Given the description of an element on the screen output the (x, y) to click on. 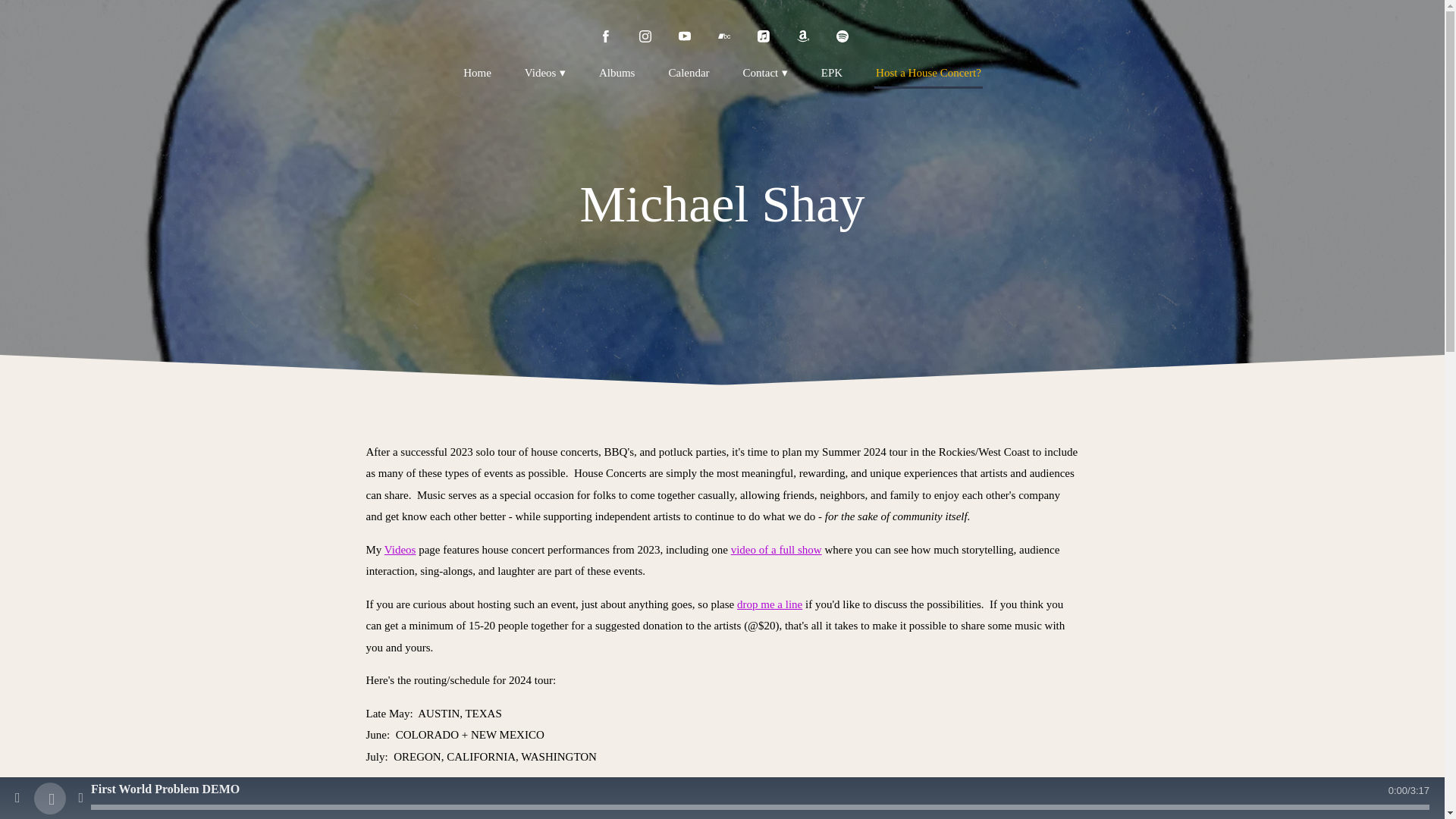
Albums (616, 73)
Calendar (688, 73)
Contact (765, 73)
EPK (831, 73)
Home (477, 73)
Videos (544, 73)
